Given the description of an element on the screen output the (x, y) to click on. 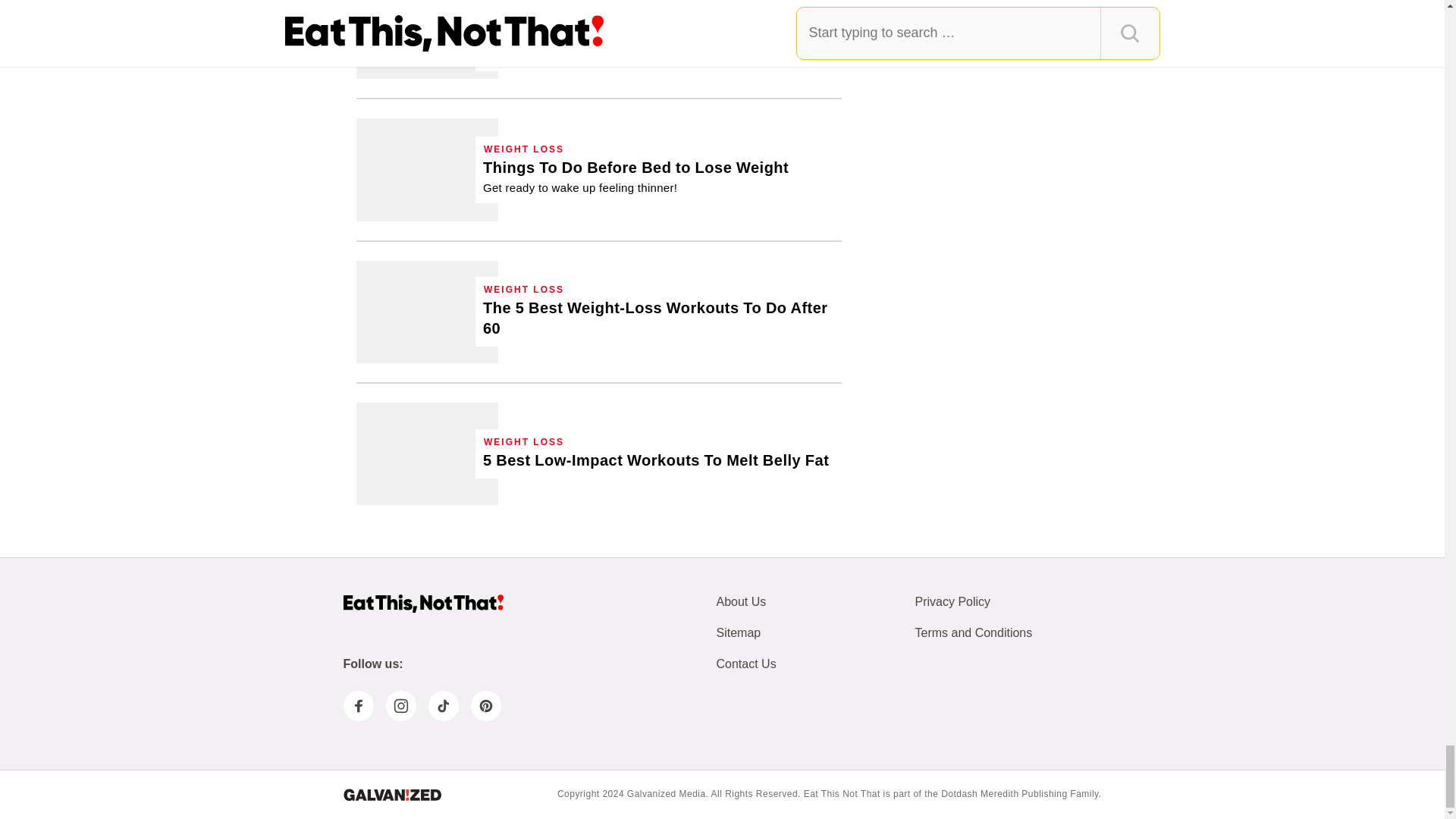
Over 60? Here Are the 5 Best Weight-Loss Workouts You Can Do (658, 318)
5 Best Low-Impact Workouts To Melt Belly Fat (655, 460)
20 Awesome Salads That Don't Use Leafy Greens (426, 39)
20 Awesome Salads That Don't Use Leafy Greens (658, 33)
5 Best Low-Impact Workouts To Melt Belly Fat (426, 453)
Over 60? Here Are the 5 Best Weight-Loss Workouts You Can Do (426, 312)
26 Things to Do Before Sleep to Lose Weight (636, 176)
26 Things to Do Before Sleep to Lose Weight (426, 168)
